Given the description of an element on the screen output the (x, y) to click on. 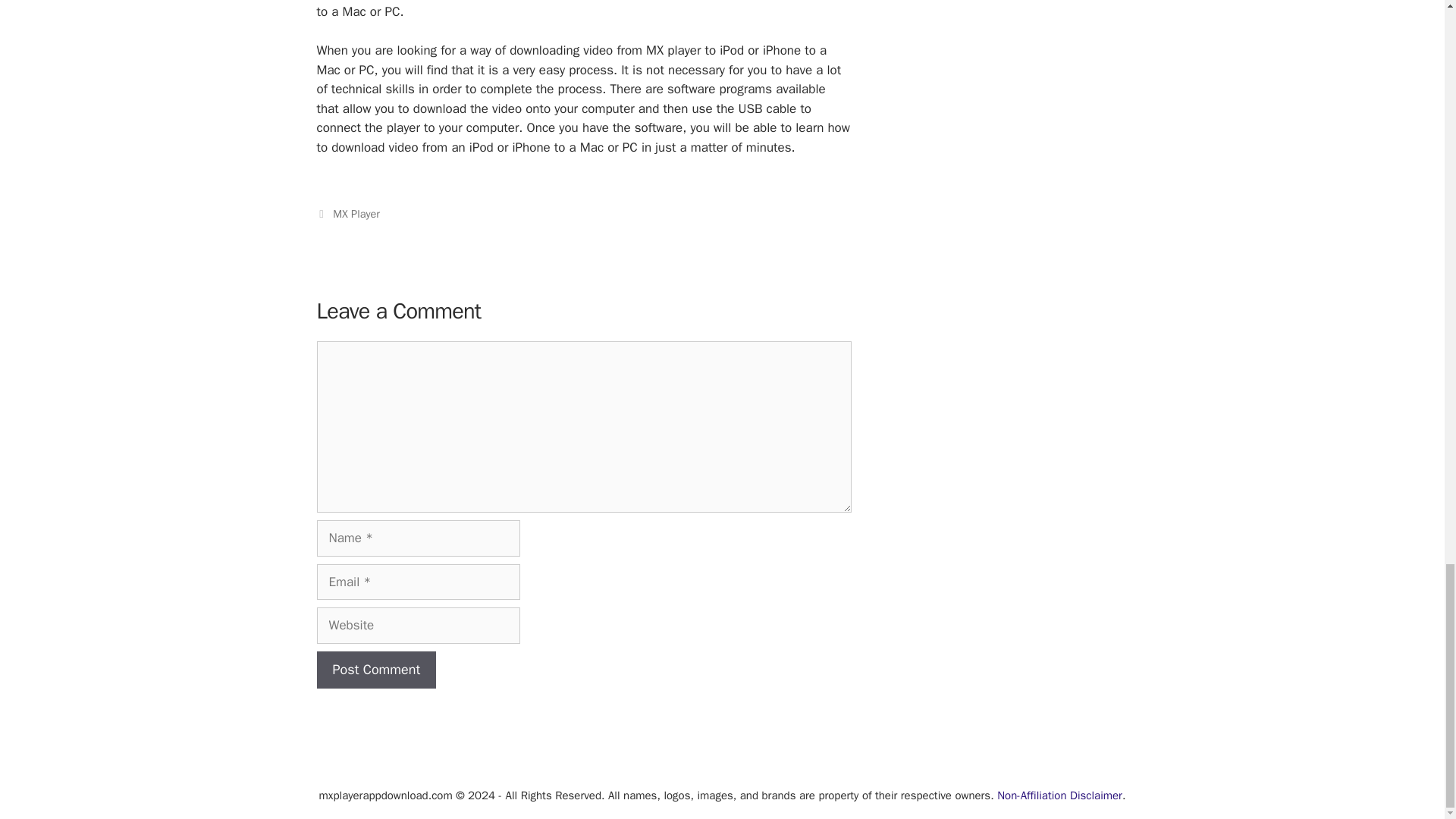
MX Player (356, 213)
Post Comment (376, 669)
Post Comment (376, 669)
Non-Affiliation Disclaimer (1059, 795)
